Given the description of an element on the screen output the (x, y) to click on. 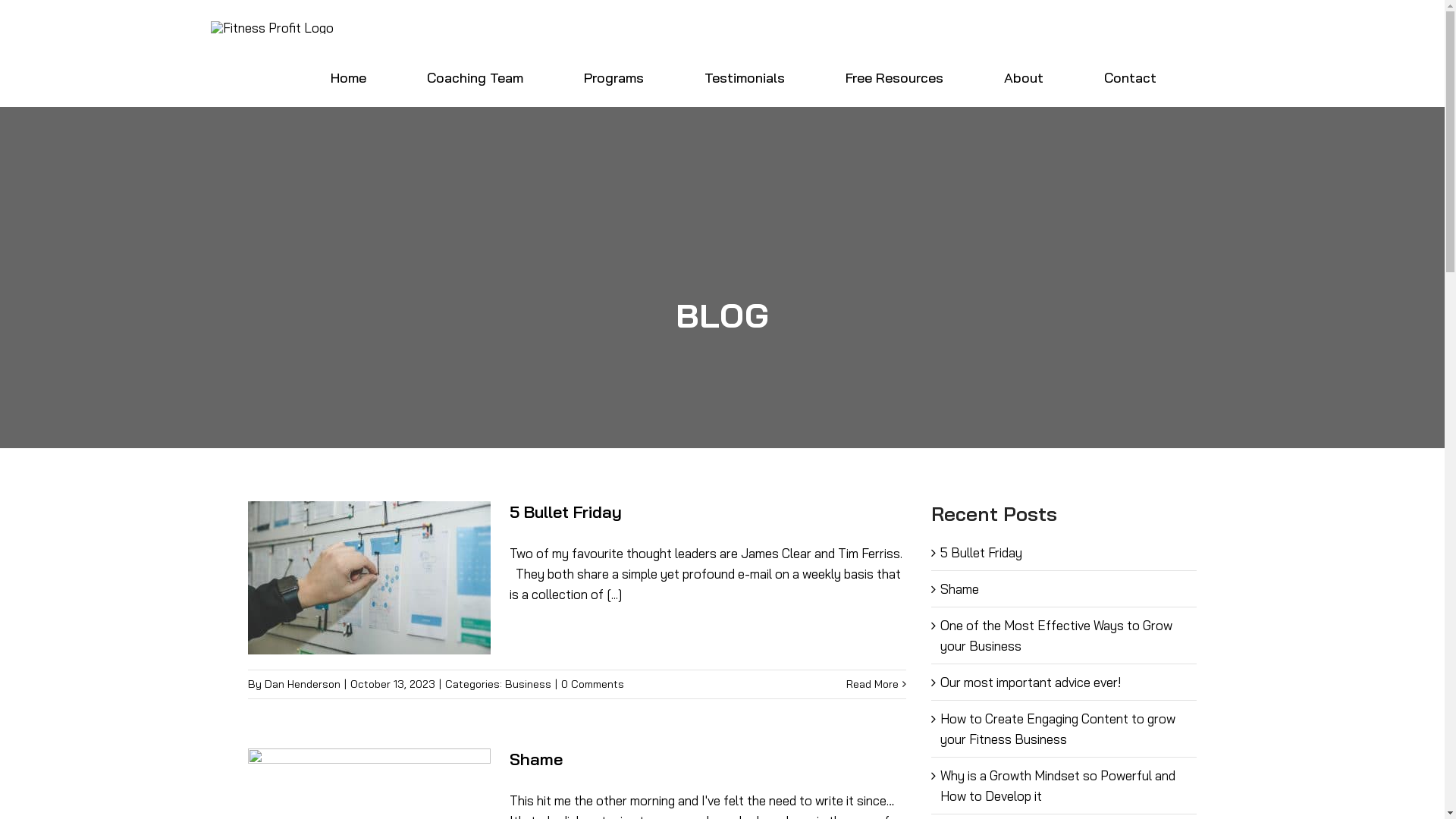
Free Resources Element type: text (894, 77)
Coaching Team Element type: text (475, 77)
Home Element type: text (347, 77)
5 Bullet Friday Element type: text (565, 511)
Testimonials Element type: text (745, 77)
5 Bullet Friday Element type: text (981, 552)
Programs Element type: text (613, 77)
Shame Element type: text (535, 758)
Why is a Growth Mindset so Powerful and How to Develop it Element type: text (1057, 785)
Shame Element type: text (959, 588)
Our most important advice ever! Element type: text (1030, 682)
Dan Henderson Element type: text (302, 683)
Contact Element type: text (1129, 77)
One of the Most Effective Ways to Grow your Business Element type: text (1056, 635)
About Element type: text (1022, 77)
0 Comments Element type: text (592, 683)
How to Create Engaging Content to grow your Fitness Business Element type: text (1057, 728)
Business Element type: text (528, 683)
YES I WANT A FREE COPY OF YOUR BOOK! Element type: text (876, 512)
Read More Element type: text (872, 683)
